Given the description of an element on the screen output the (x, y) to click on. 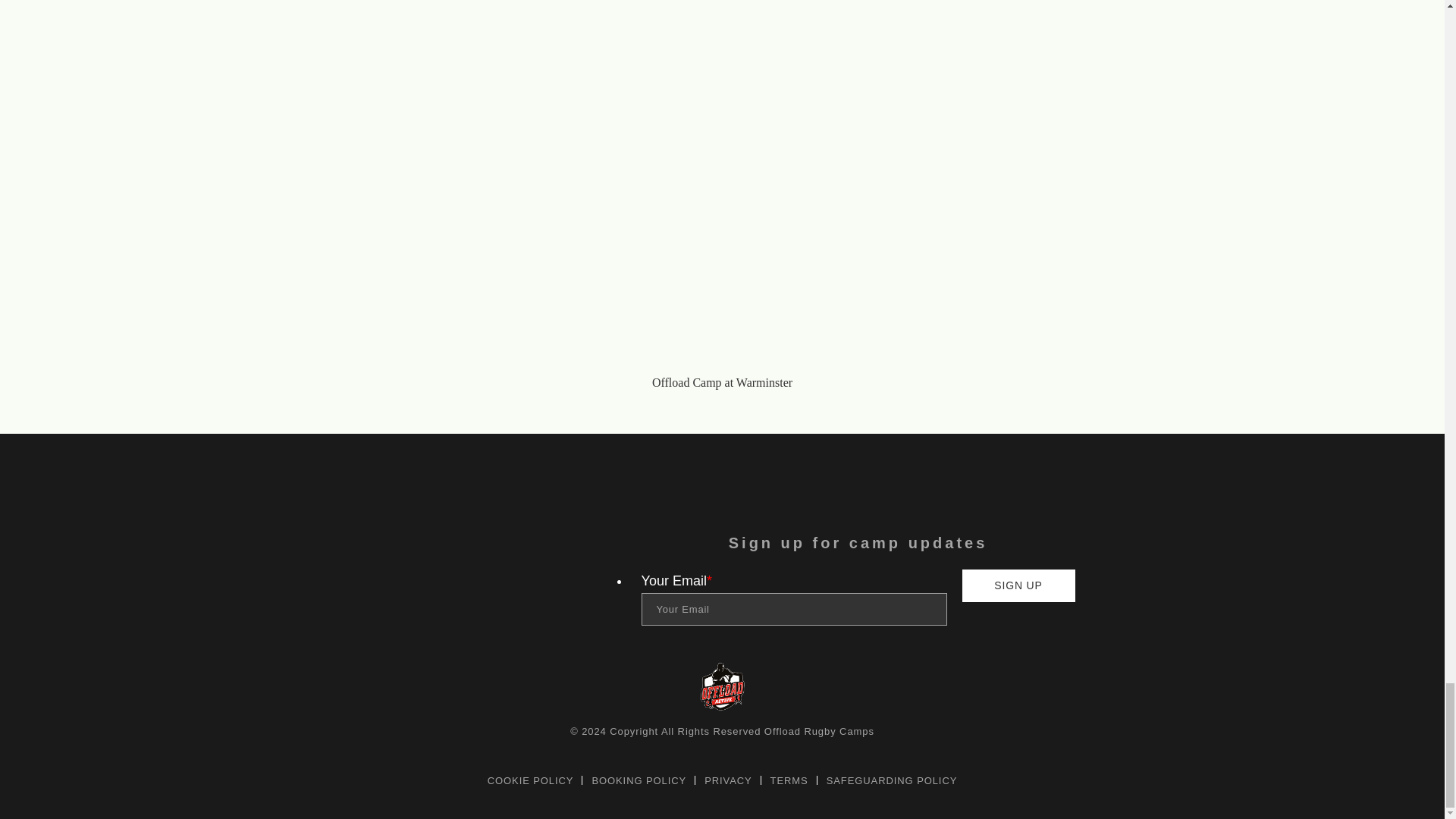
BOOKING POLICY (638, 780)
Sign up (1017, 585)
Sign up (1017, 585)
PRIVACY (727, 780)
TERMS (789, 780)
SAFEGUARDING POLICY (892, 780)
COOKIE POLICY (530, 780)
